Given the description of an element on the screen output the (x, y) to click on. 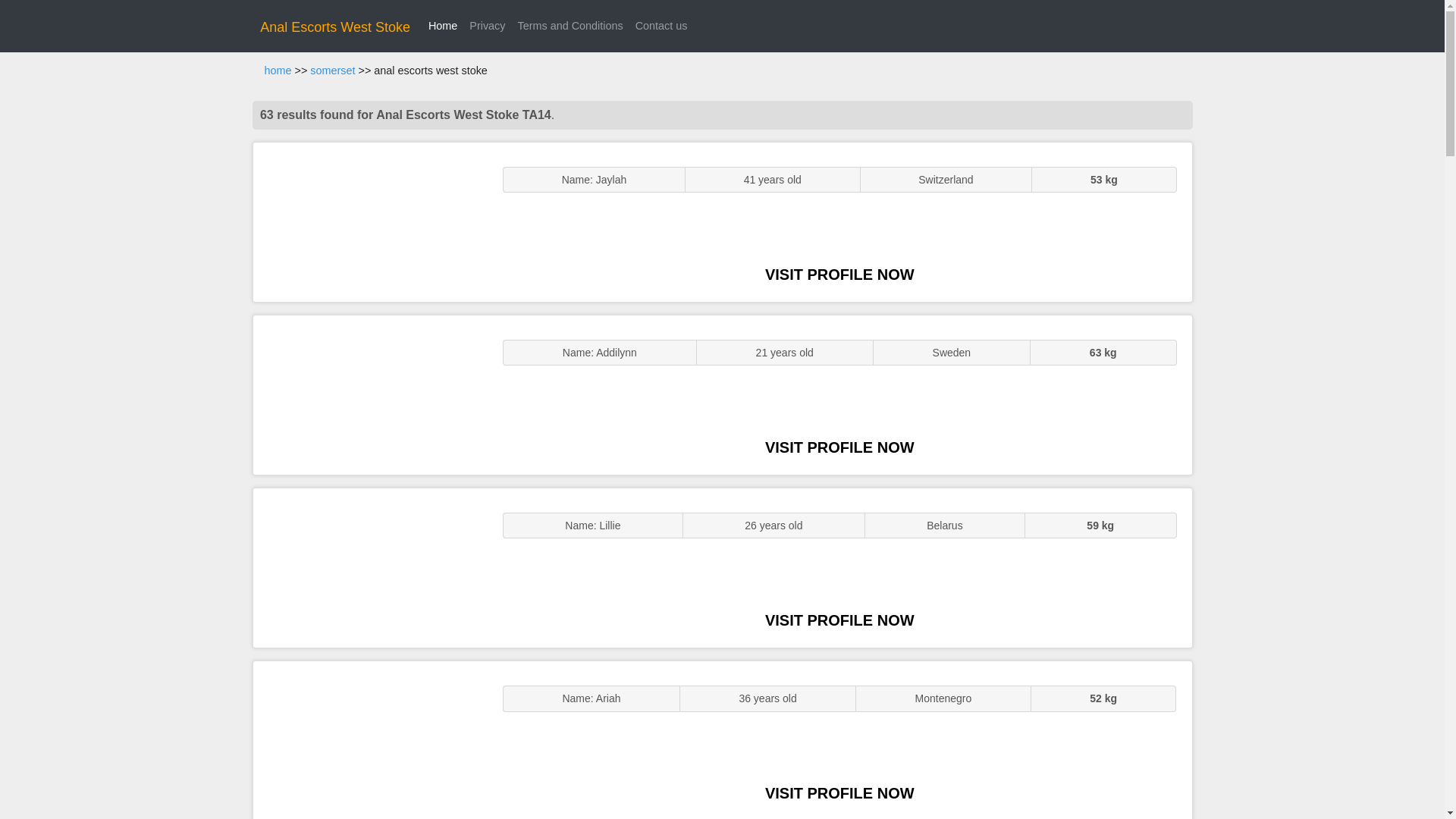
Privacy (487, 25)
Sexy (370, 567)
VISIT PROFILE NOW (839, 619)
somerset (332, 70)
 ENGLISH STUNNER (370, 222)
VISIT PROFILE NOW (839, 274)
VISIT PROFILE NOW (839, 792)
Contact us (661, 25)
Sluts (370, 739)
Terms and Conditions (569, 25)
home (277, 70)
GFE (370, 395)
VISIT PROFILE NOW (839, 446)
Anal Escorts West Stoke (335, 27)
